Given the description of an element on the screen output the (x, y) to click on. 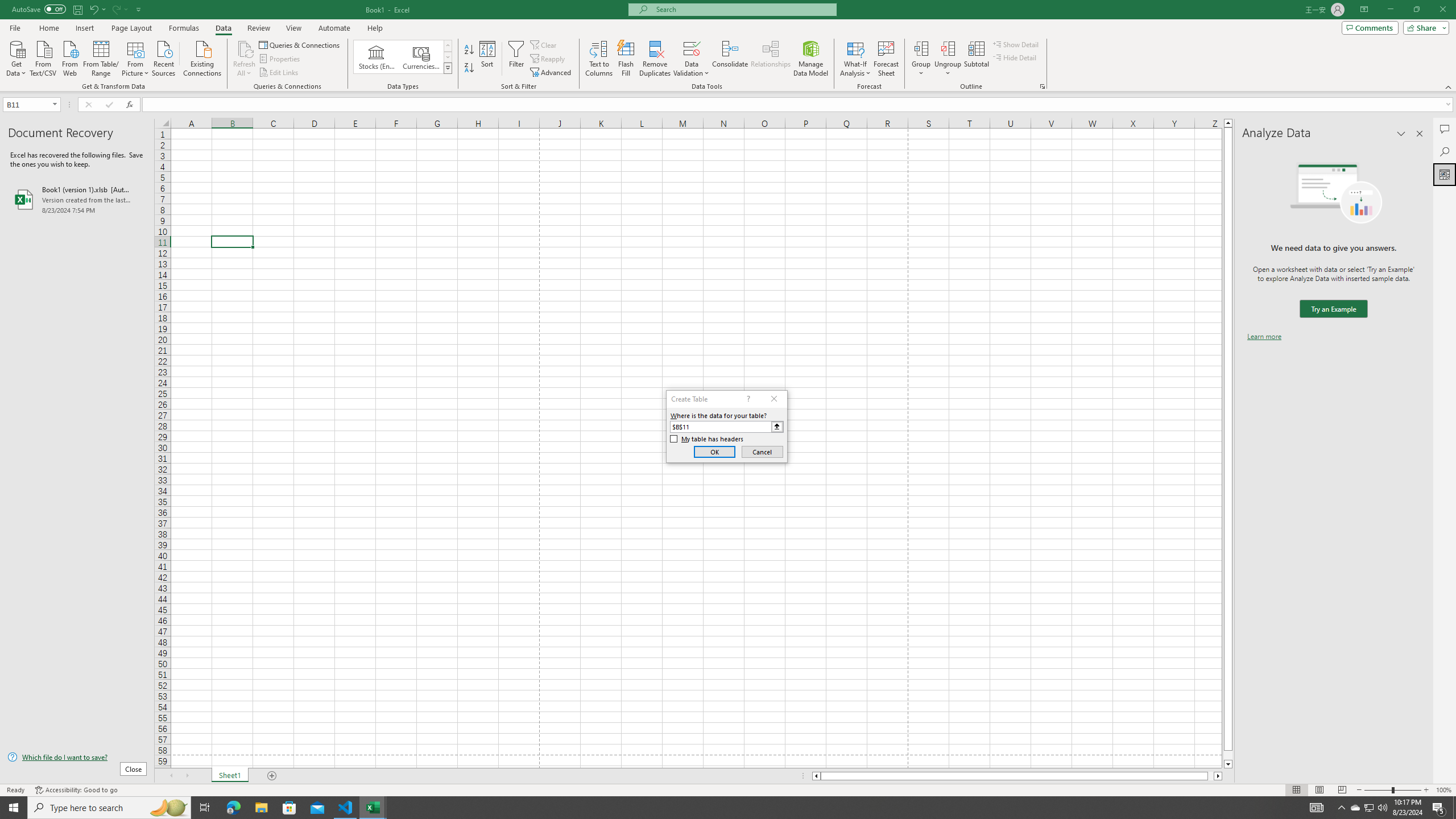
Consolidate... (729, 58)
